Given the description of an element on the screen output the (x, y) to click on. 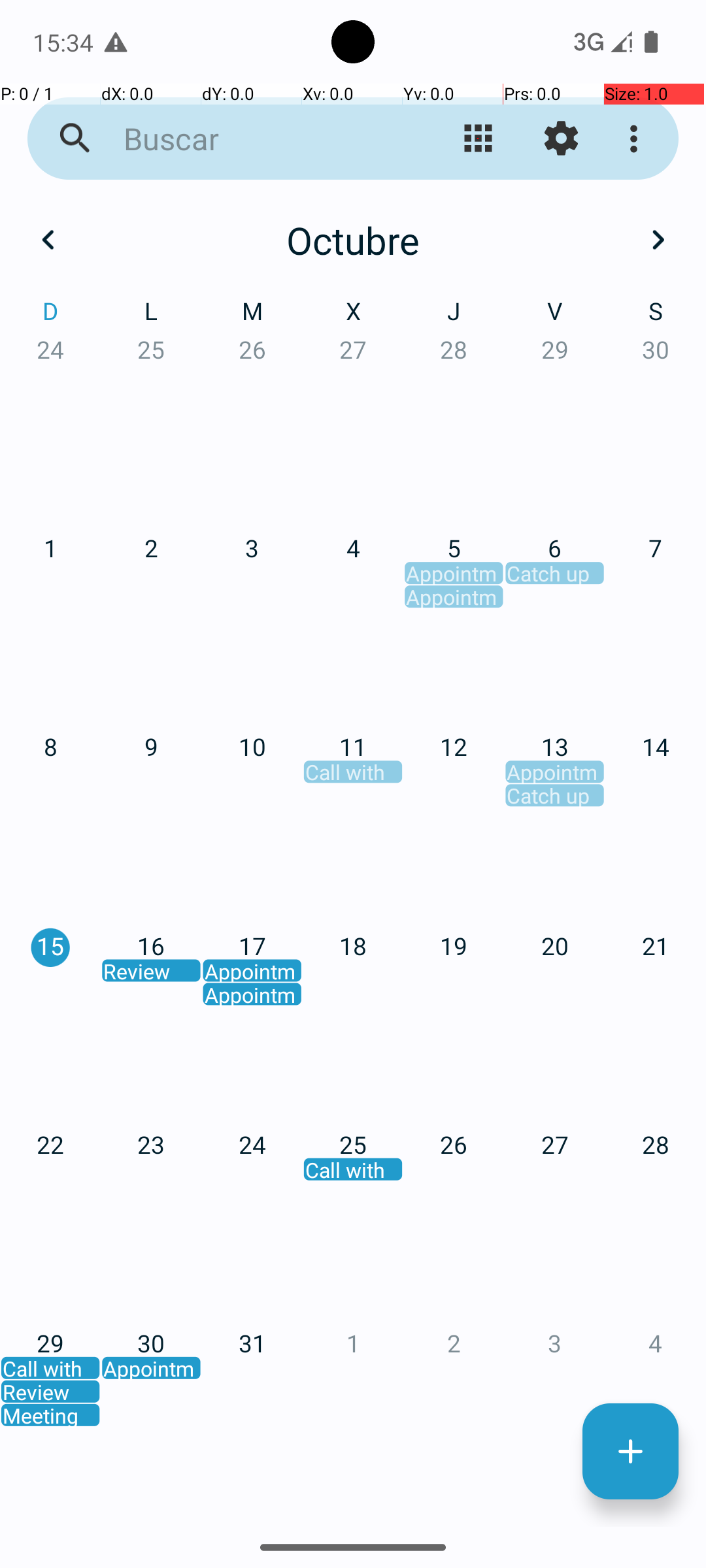
Buscar Element type: android.widget.EditText (252, 138)
Cambiar vista Element type: android.widget.Button (477, 138)
Ajustes Element type: android.widget.Button (560, 138)
Más opciones Element type: android.widget.ImageView (636, 138)
Nuevo evento Element type: android.widget.ImageButton (630, 1451)
Octubre Element type: android.widget.TextView (352, 239)
